Given the description of an element on the screen output the (x, y) to click on. 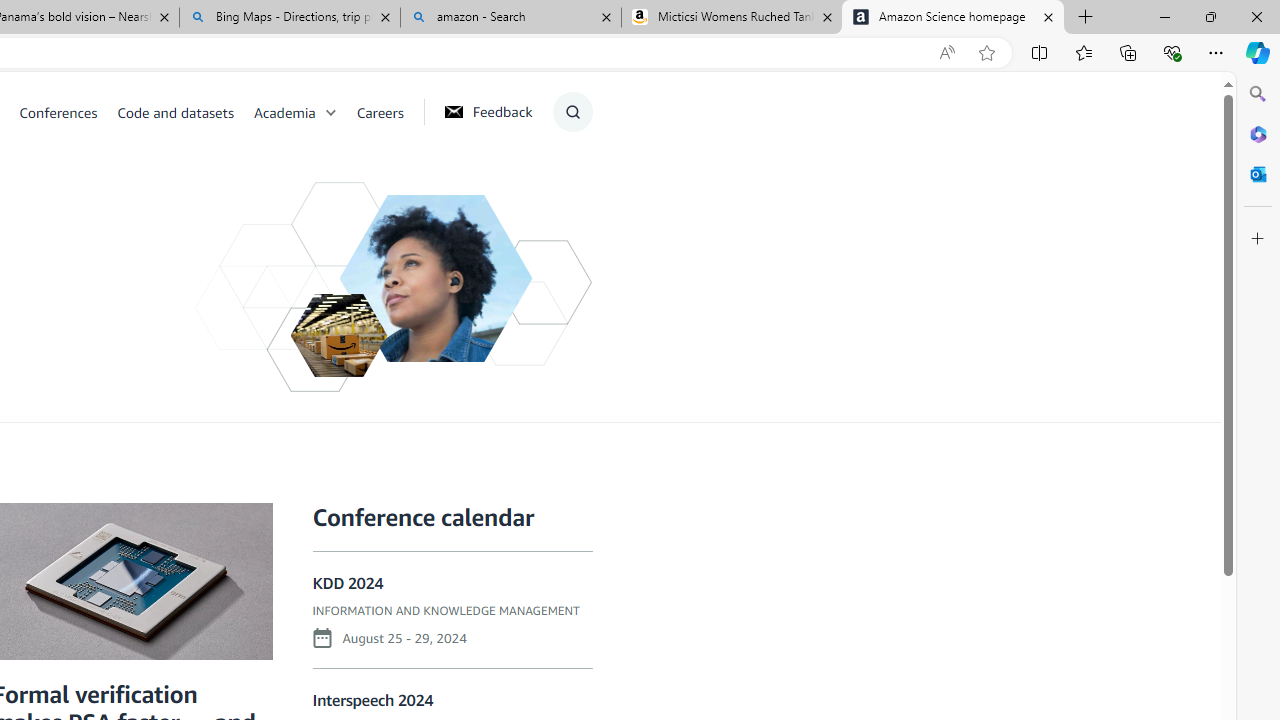
Code and datasets (175, 111)
Conferences (58, 111)
Careers (389, 111)
Conference calendar (422, 517)
Amazon Science homepage (953, 17)
